Given the description of an element on the screen output the (x, y) to click on. 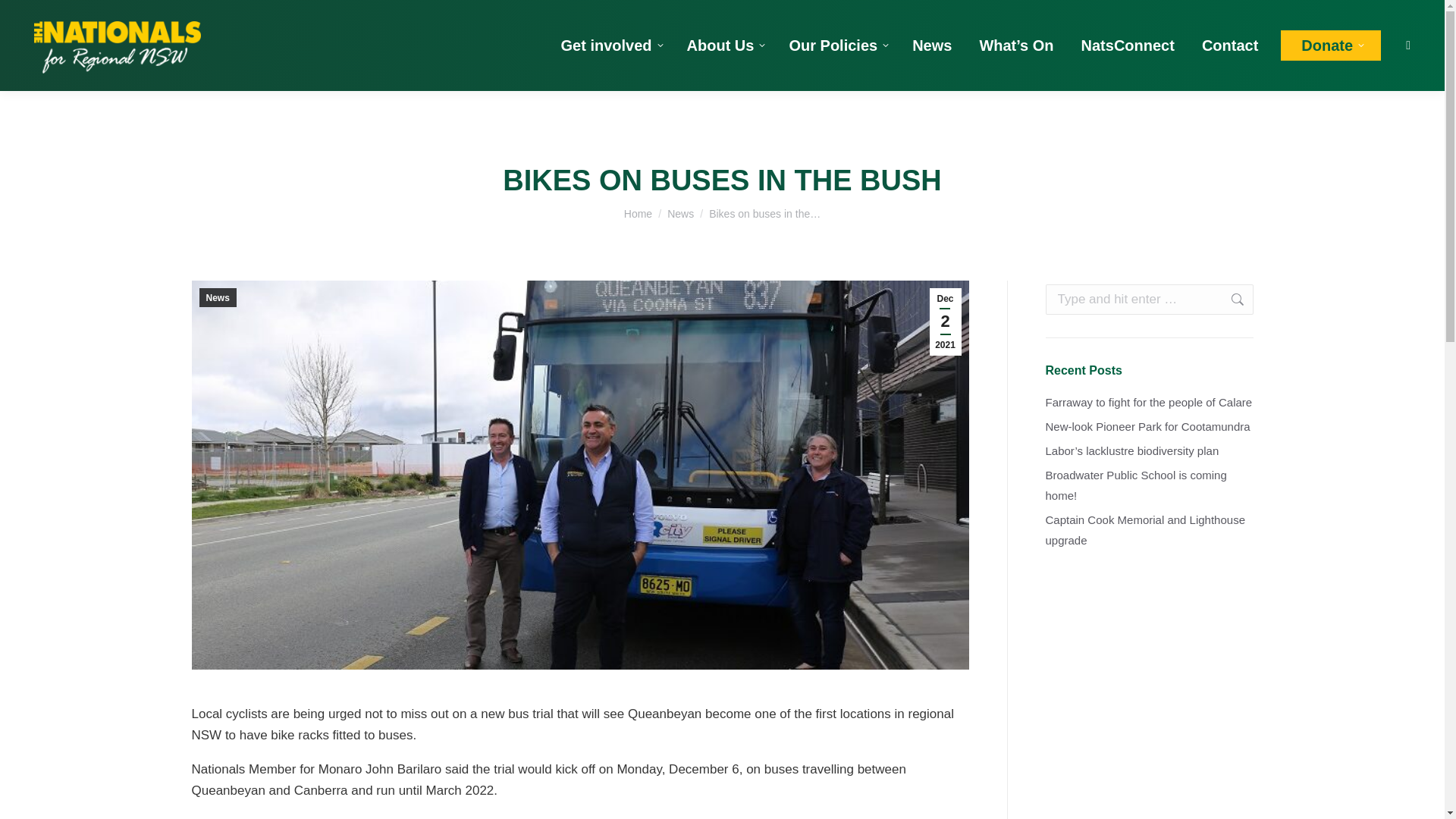
NatsConnect (1127, 44)
Go! (1229, 299)
Donate (1330, 45)
About Us (724, 44)
Go! (1229, 299)
Go! (24, 16)
Our Policies (837, 44)
Home (638, 214)
Contact (1229, 44)
News (680, 214)
Get involved (609, 44)
